Given the description of an element on the screen output the (x, y) to click on. 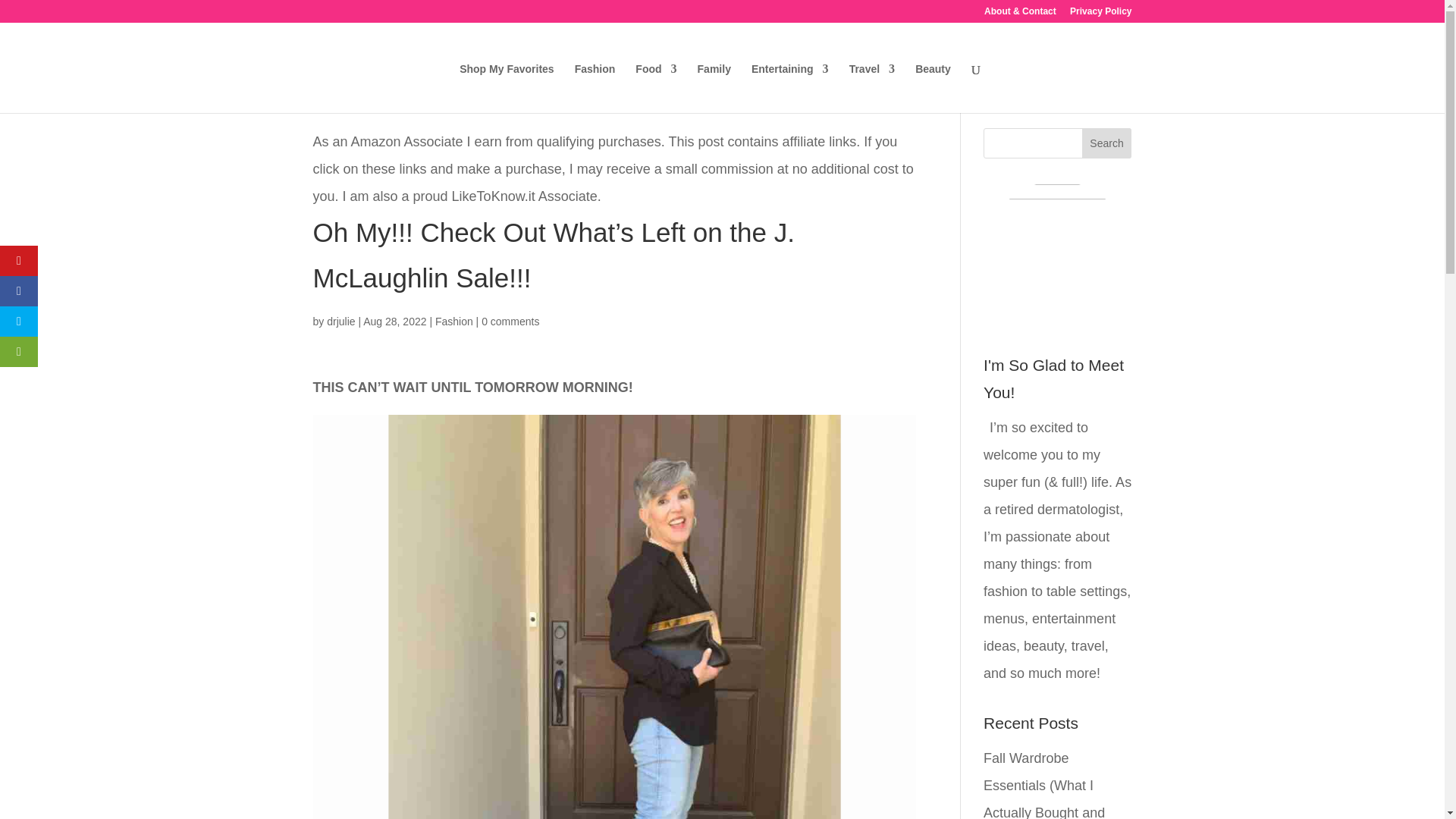
Privacy Policy (1100, 14)
Search (1106, 142)
Entertaining (789, 88)
Search (1106, 142)
Posts by drjulie (340, 321)
drjulie (340, 321)
Fashion (454, 321)
Shop My Favorites (506, 88)
Travel (871, 88)
0 comments (509, 321)
